Given the description of an element on the screen output the (x, y) to click on. 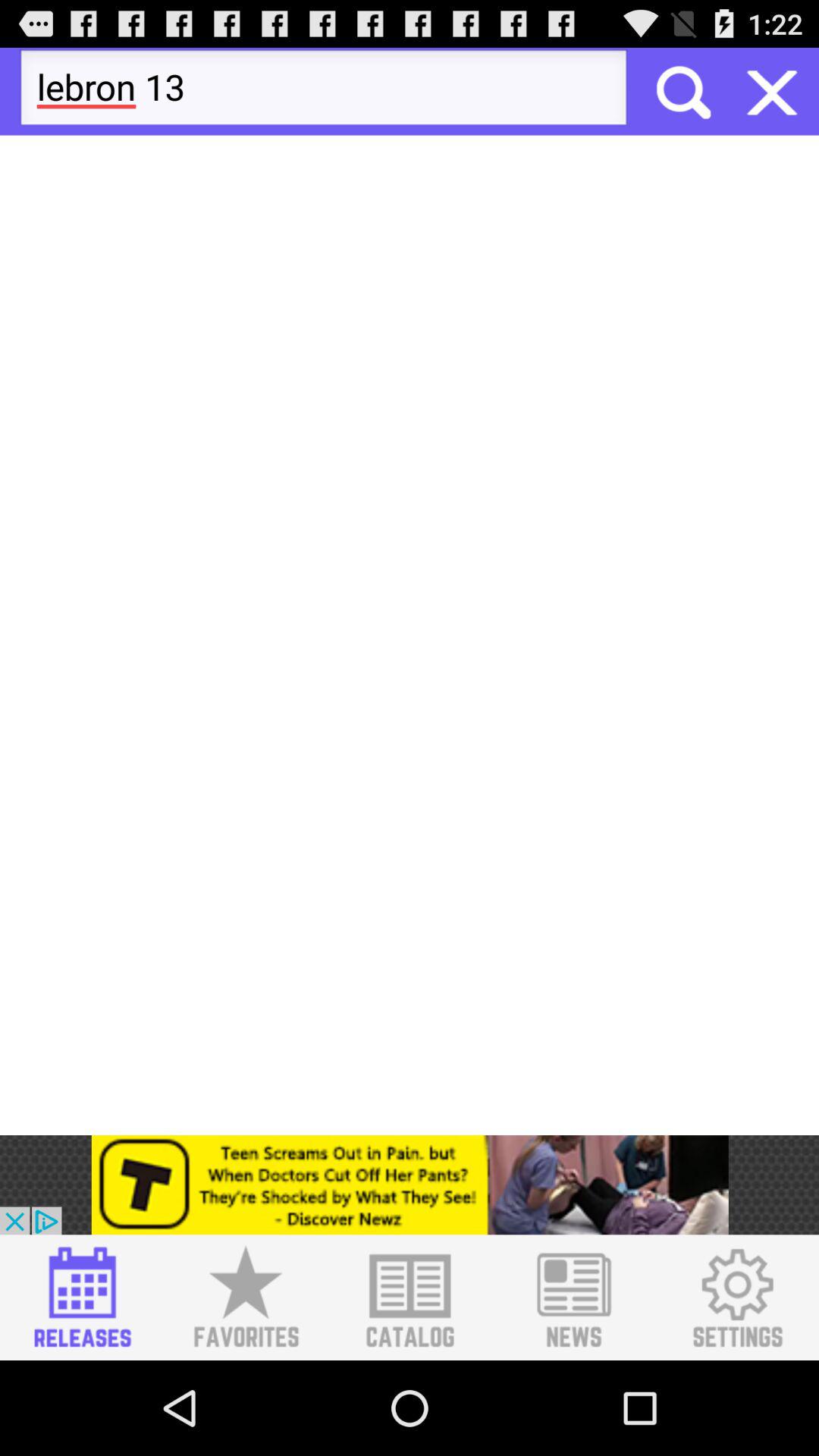
open favorites (245, 1297)
